Given the description of an element on the screen output the (x, y) to click on. 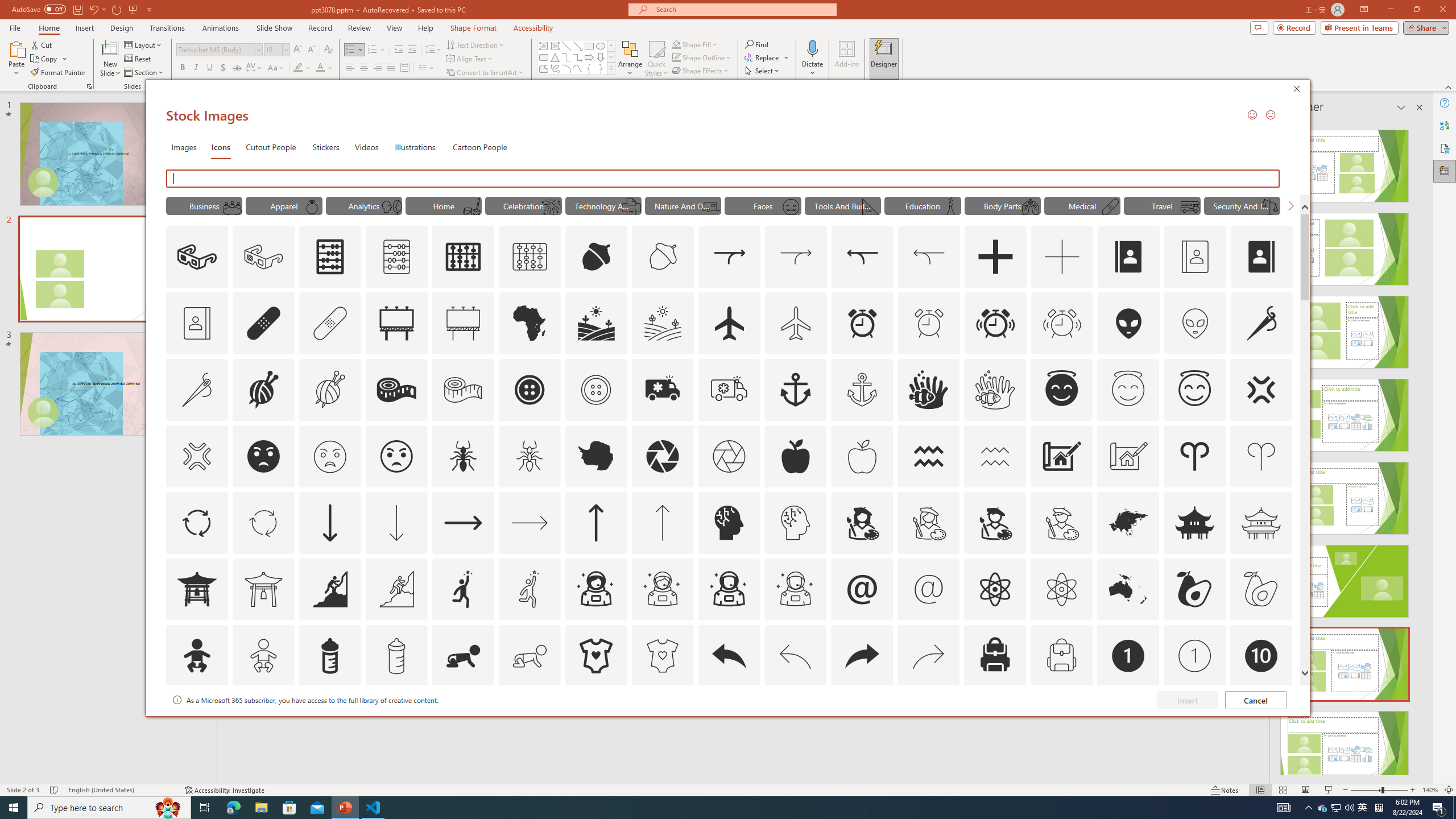
Layout (143, 44)
AutomationID: Icons_Badge4 (529, 721)
Justify (390, 67)
Text Highlight Color Yellow (297, 67)
"Nature And Outdoors" Icons. (682, 205)
Line Spacing (433, 49)
AutomationID: Icons_Back_LTR (729, 655)
AutomationID: Icons_Badge8 (1061, 721)
AutomationID: Icons_AddressBook_LTR (1128, 256)
